Given the description of an element on the screen output the (x, y) to click on. 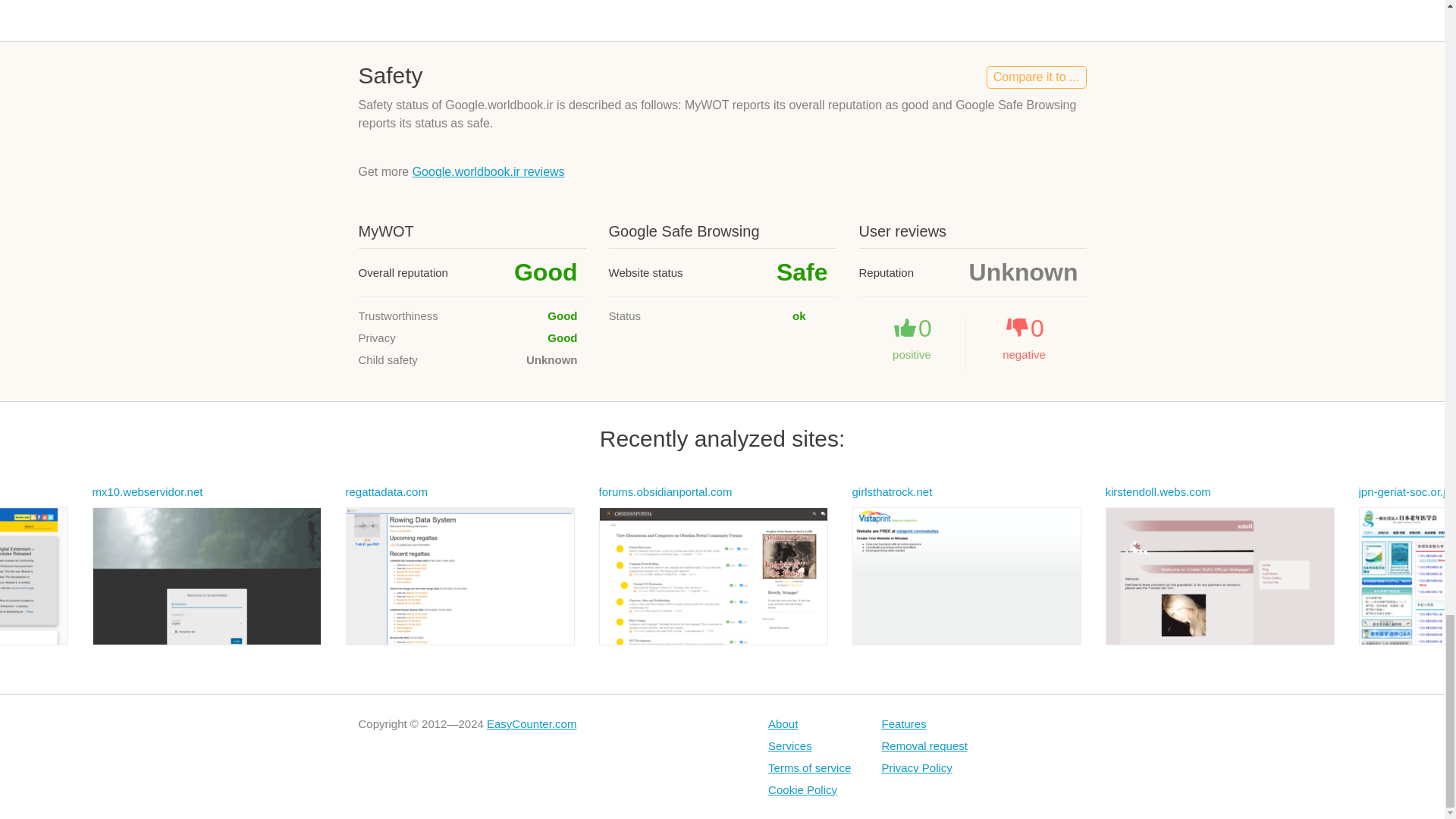
kirstendoll.webs.com (1158, 491)
forums.obsidianportal.com (665, 491)
Compare it to ... (1036, 77)
Google.worldbook.ir reviews (488, 171)
girlsthatrock.net (892, 491)
